Given the description of an element on the screen output the (x, y) to click on. 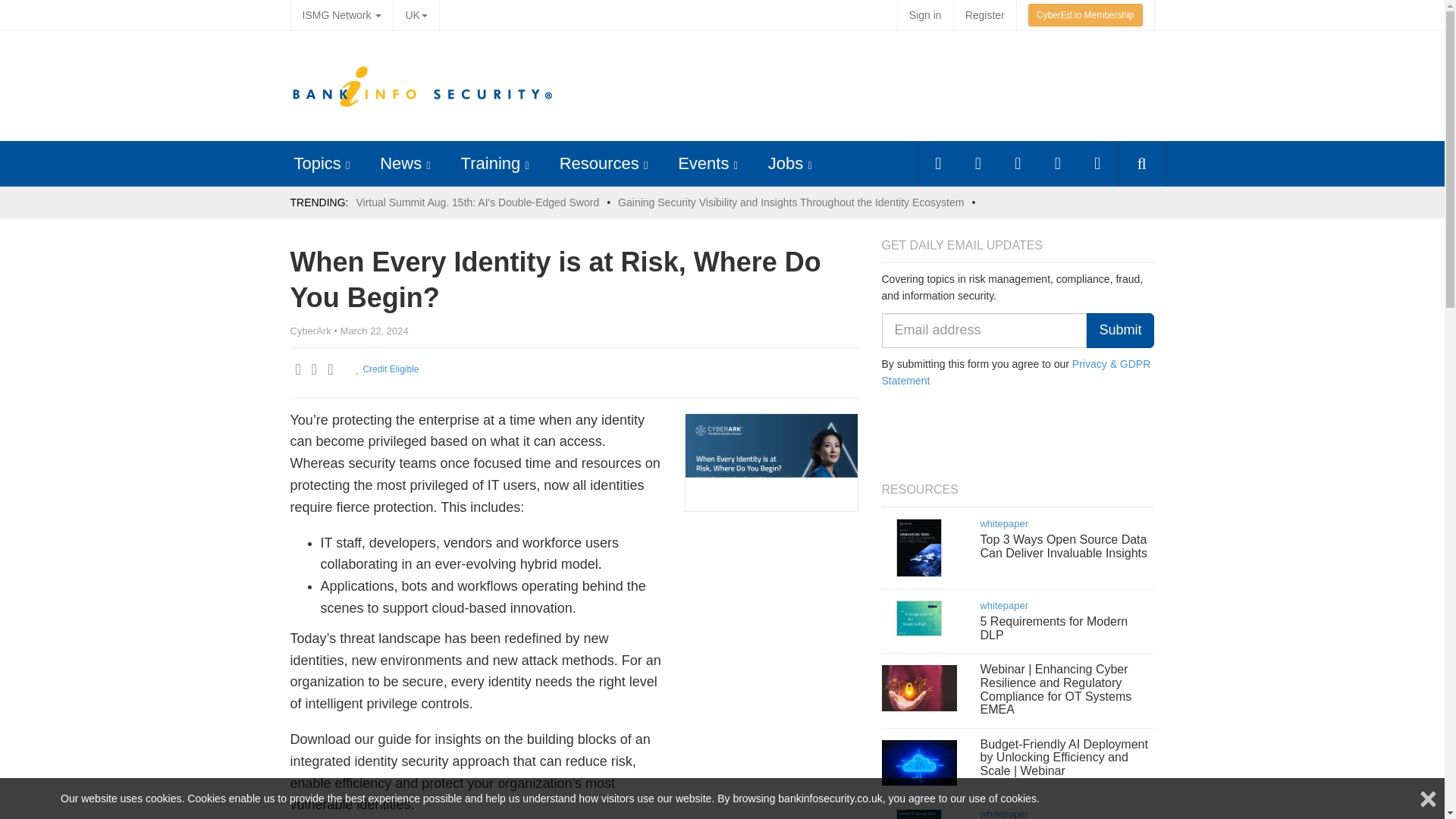
Sign in (925, 15)
Register (984, 15)
ISMG Network (341, 15)
UK (415, 15)
CyberEd.io Membership (1084, 15)
Topics (317, 162)
